Given the description of an element on the screen output the (x, y) to click on. 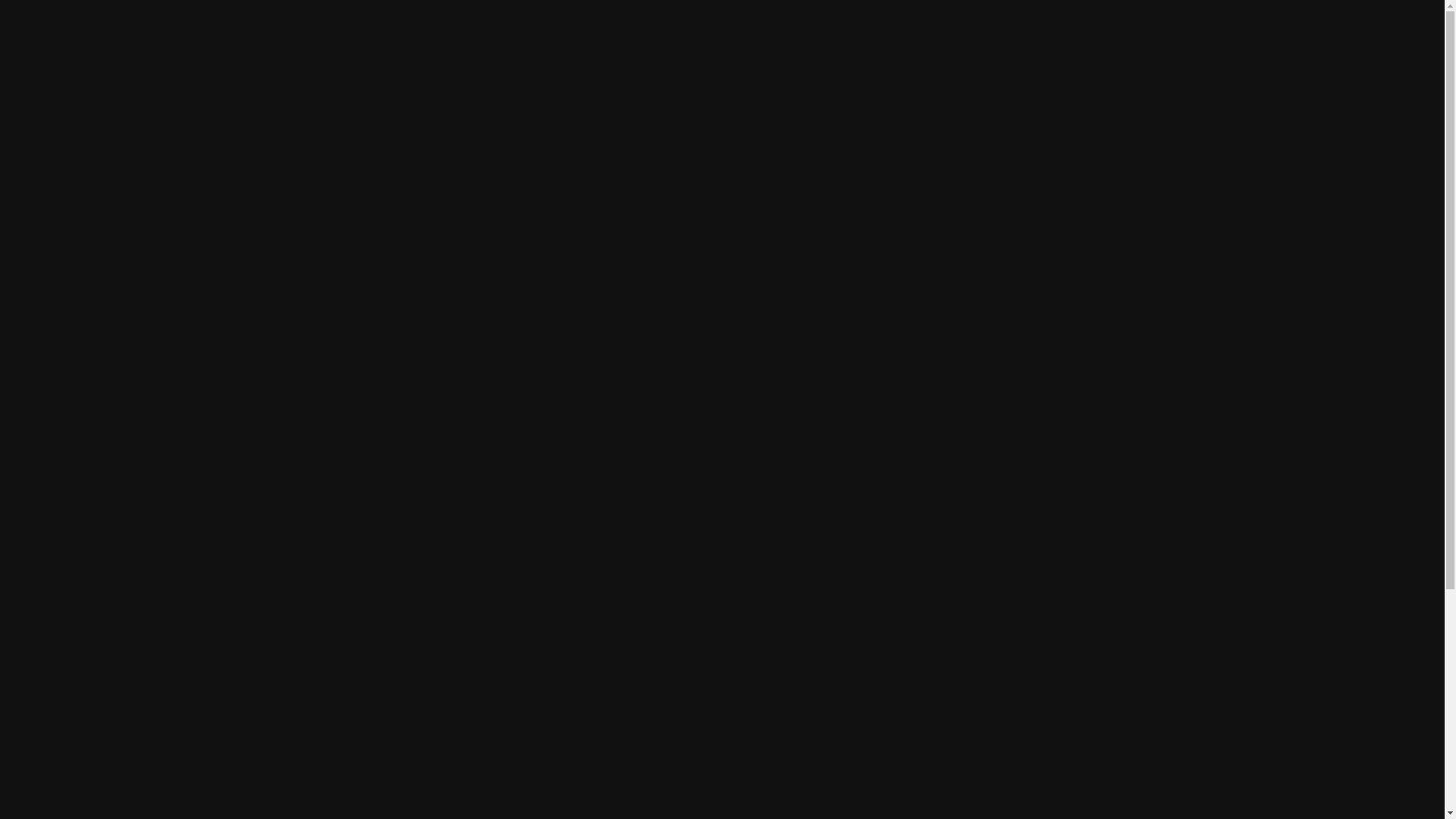
Menu Element type: hover (145, 30)
Strategy Element type: text (341, 30)
Get in touch Element type: text (197, 696)
Design Element type: text (415, 30)
About us Element type: text (316, 696)
Global Element type: text (1179, 30)
Communications Element type: text (517, 30)
